Given the description of an element on the screen output the (x, y) to click on. 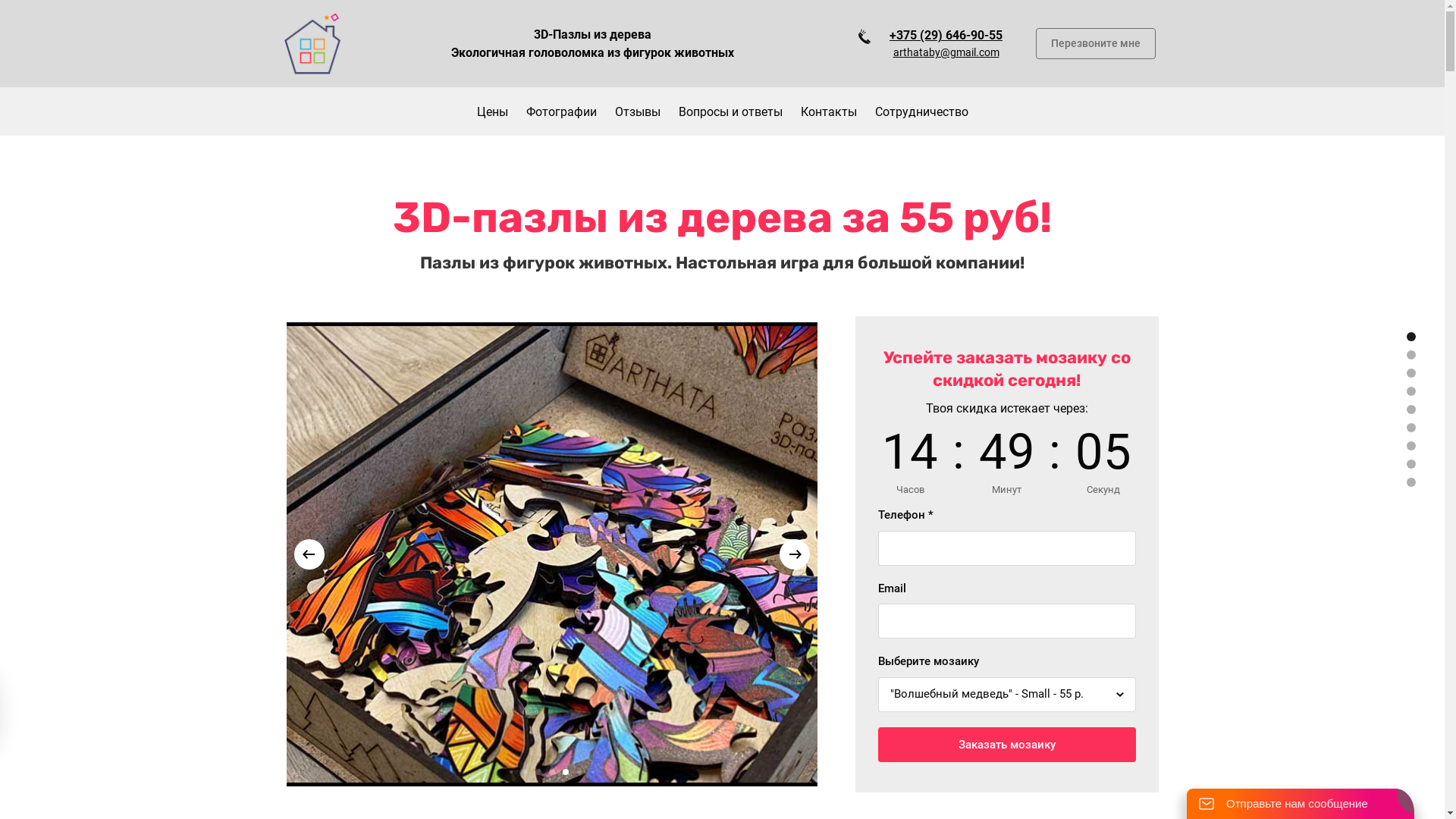
arthataby@gmail.com Element type: text (946, 52)
+375 (29) 646-90-55 Element type: text (945, 35)
